Given the description of an element on the screen output the (x, y) to click on. 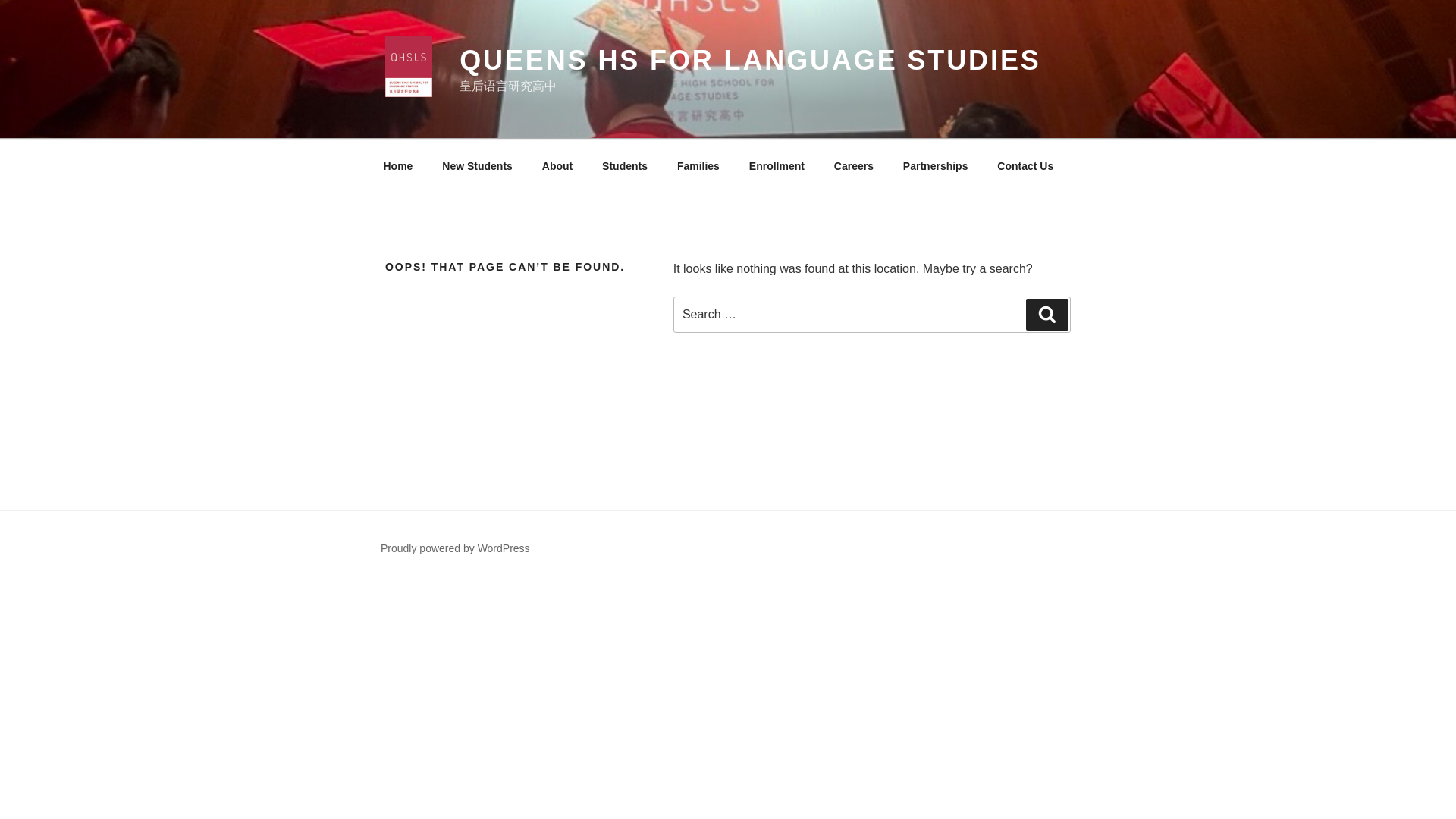
About (556, 165)
Careers (853, 165)
New Students (477, 165)
Partnerships (935, 165)
Home (397, 165)
Proudly powered by WordPress (454, 548)
Contact Us (1025, 165)
QUEENS HS FOR LANGUAGE STUDIES (750, 60)
Enrollment (775, 165)
Search (1047, 314)
Students (625, 165)
Families (697, 165)
